Given the description of an element on the screen output the (x, y) to click on. 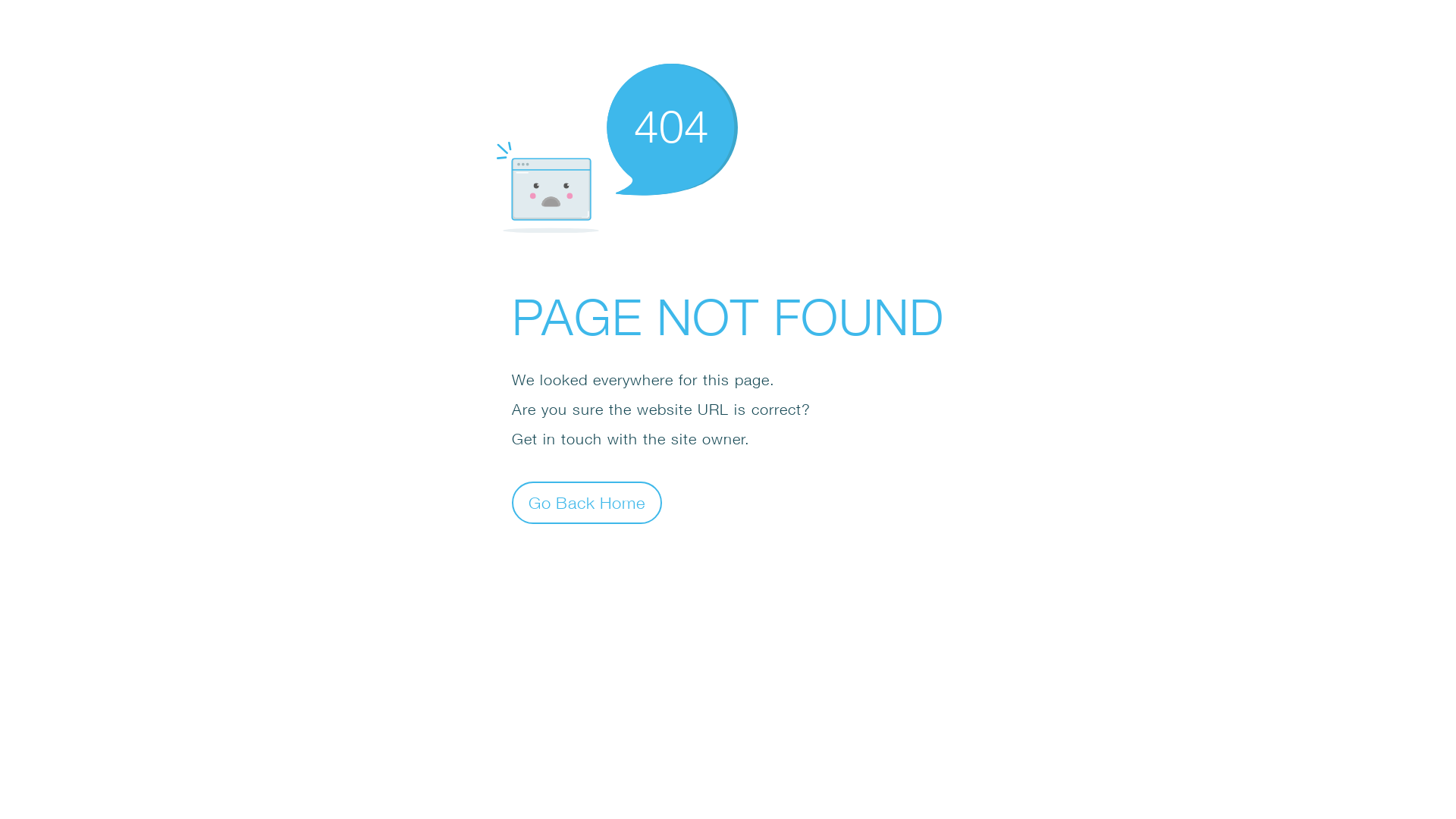
Go Back Home Element type: text (586, 502)
